Given the description of an element on the screen output the (x, y) to click on. 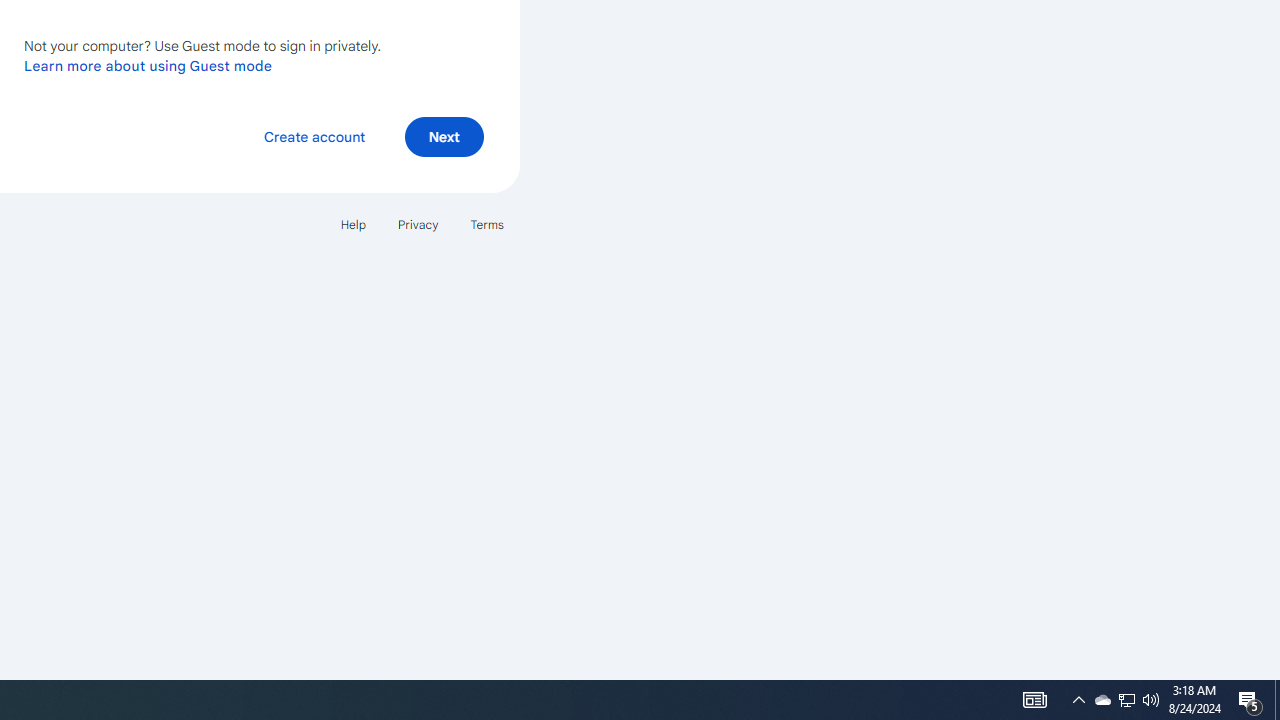
Next (443, 135)
Create account (314, 135)
Learn more about using Guest mode (148, 65)
